Given the description of an element on the screen output the (x, y) to click on. 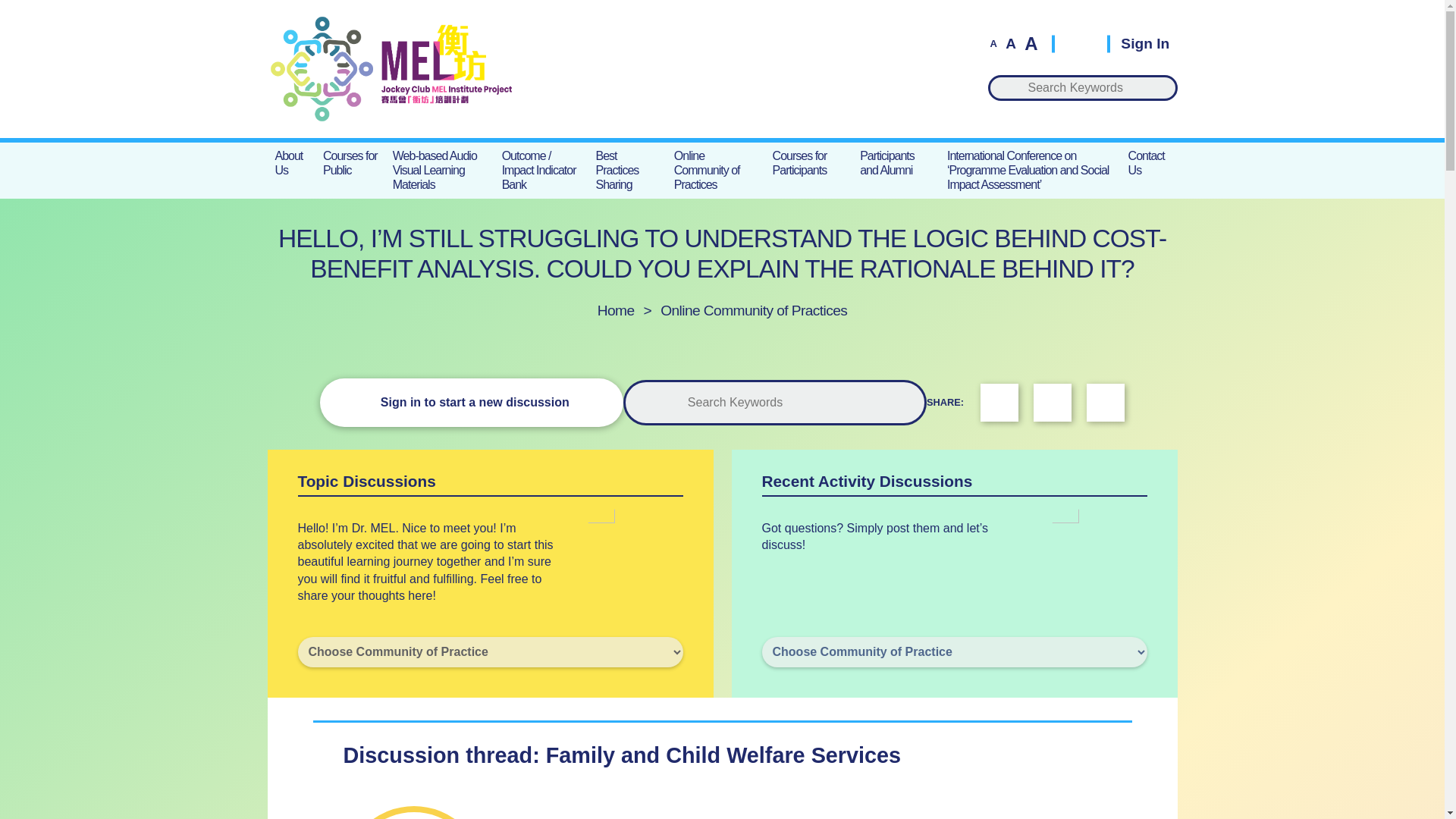
A (1030, 44)
Participants and Alumni (895, 162)
A (992, 43)
A (1010, 43)
Sign In (1137, 43)
Courses for Participants (809, 162)
Sign in to start a new discussion (471, 401)
About Us (290, 162)
Contact Us (1149, 162)
Courses for Public (350, 162)
